Given the description of an element on the screen output the (x, y) to click on. 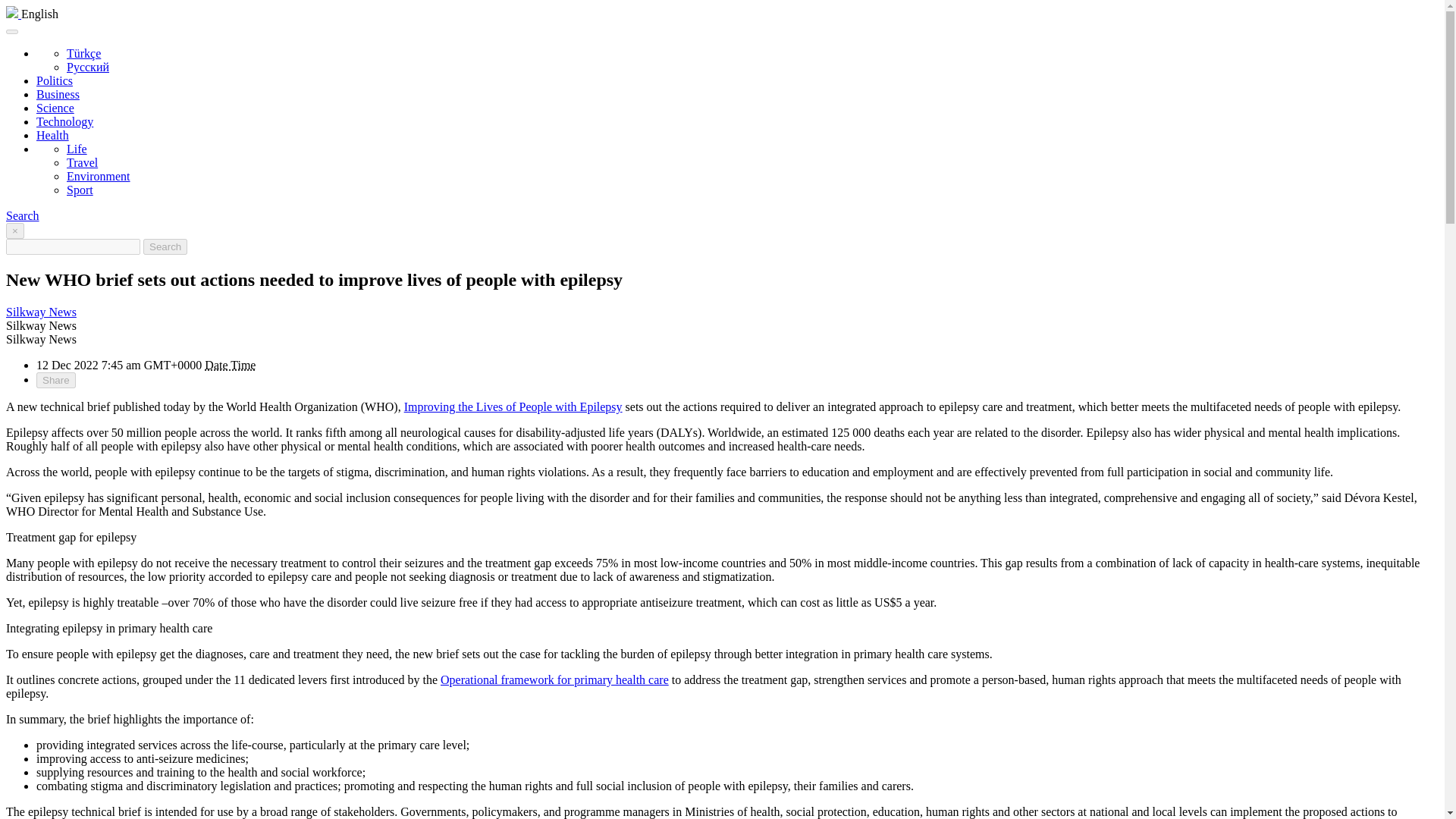
Silkway News (41, 311)
Life (76, 148)
Politics (54, 80)
Business (58, 93)
Sport (79, 189)
Operational framework for primary health care (554, 679)
Technology (64, 121)
Search (164, 246)
Environment (98, 175)
Improving the Lives of People with Epilepsy (513, 406)
Share (55, 380)
Science (55, 107)
Search (22, 215)
Health (52, 134)
Travel (81, 162)
